Given the description of an element on the screen output the (x, y) to click on. 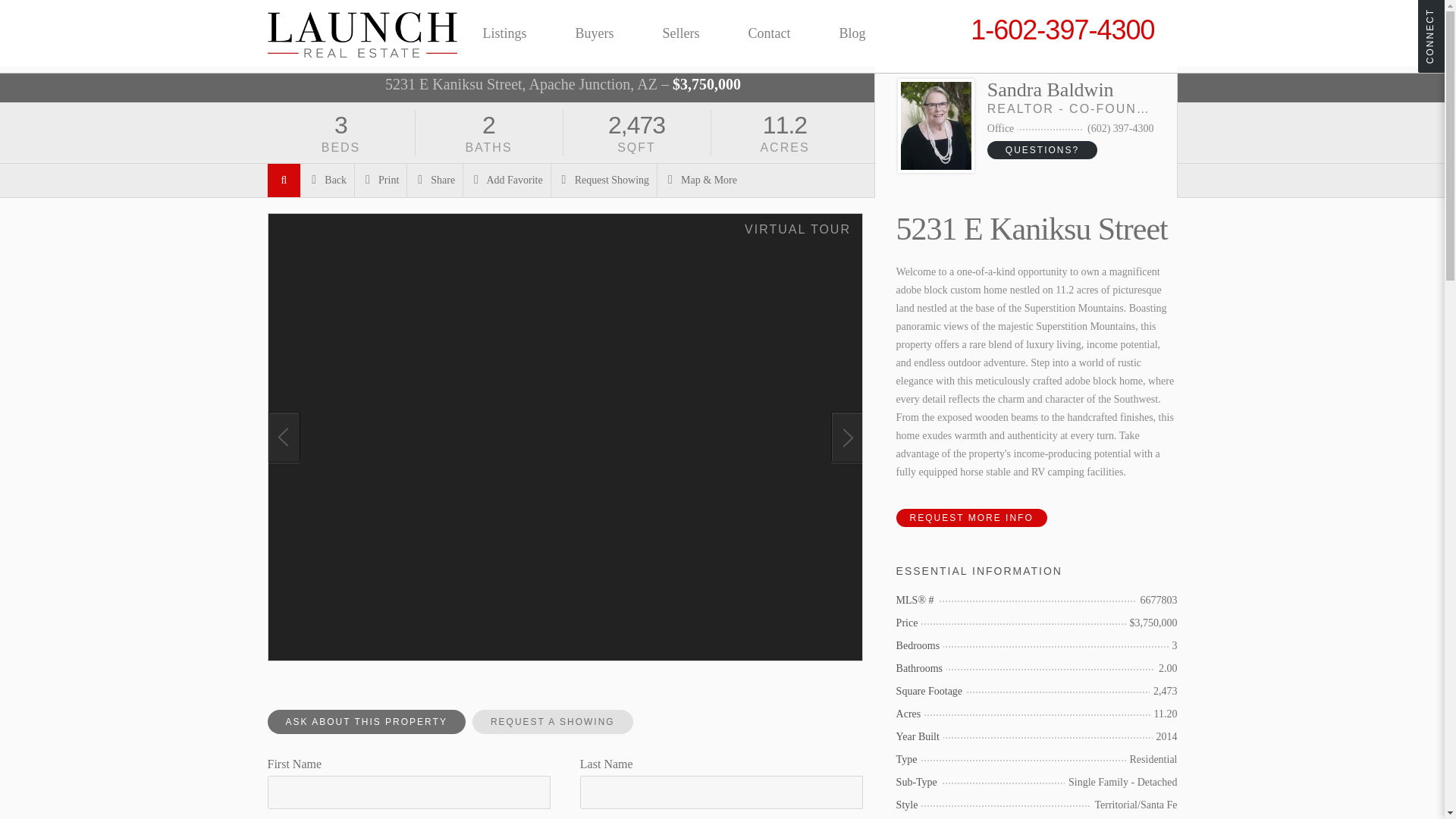
Add Favorite (507, 180)
Contact (769, 33)
Sellers (681, 33)
Blog (852, 33)
Share (435, 180)
Print (381, 180)
QUESTIONS? (1042, 149)
Back (328, 180)
Listings (504, 33)
Buyers (594, 33)
